Given the description of an element on the screen output the (x, y) to click on. 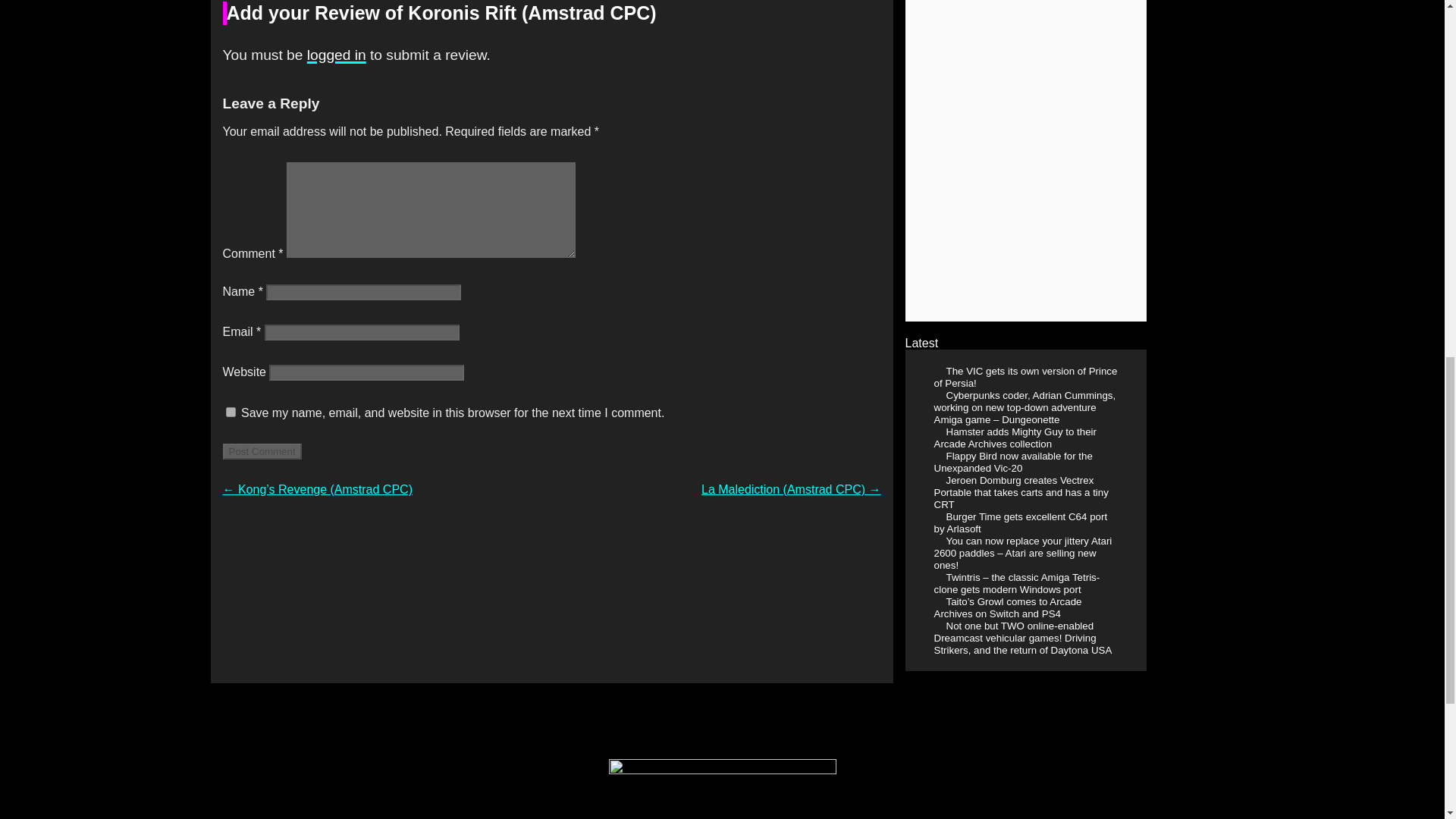
Post Comment (261, 451)
Post Comment (261, 451)
yes (230, 411)
logged in (336, 54)
